Given the description of an element on the screen output the (x, y) to click on. 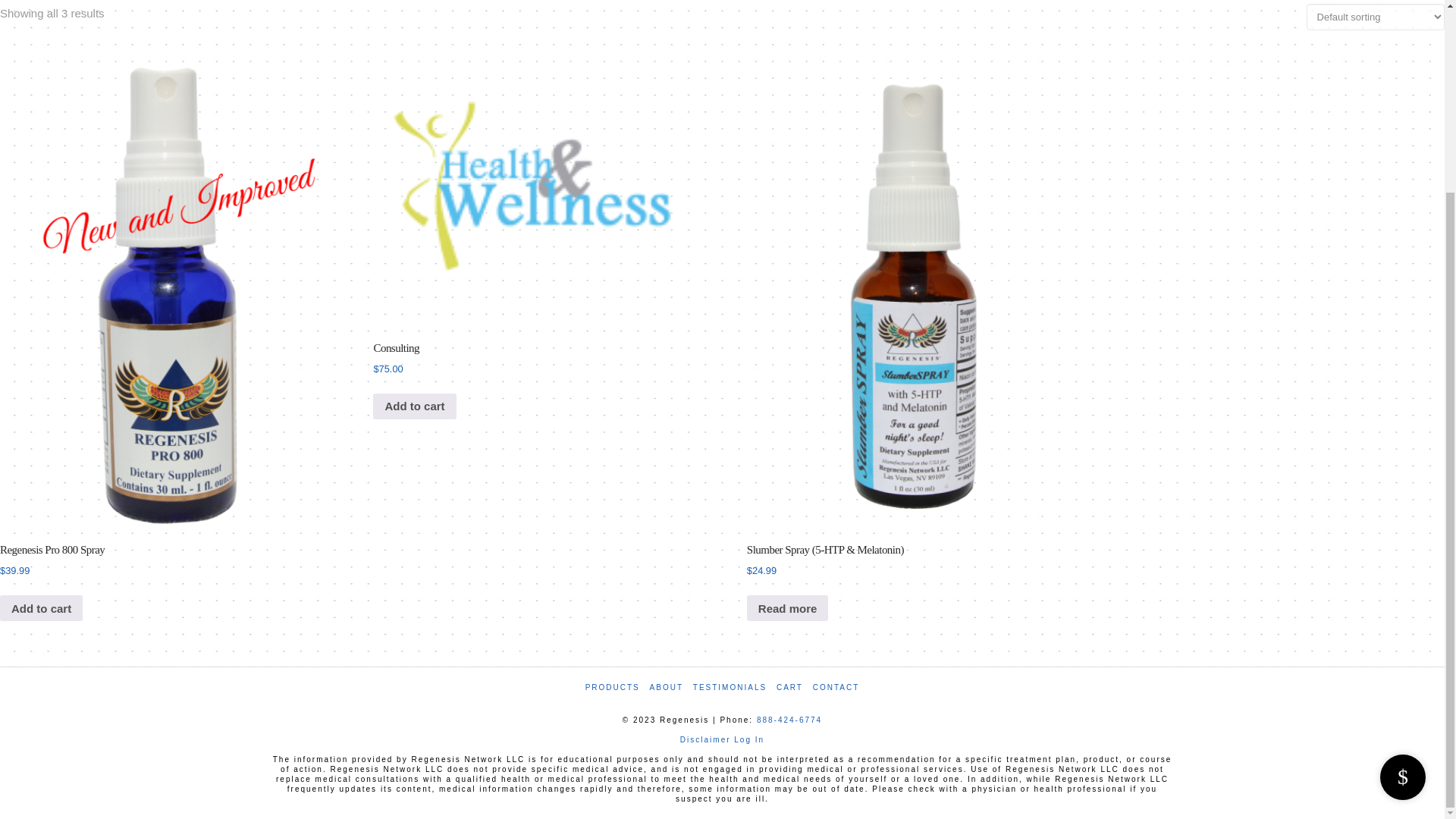
TESTIMONIALS (730, 687)
888-424-6774 (789, 719)
CART (789, 687)
Add to cart (41, 607)
CONTACT (836, 687)
ABOUT (665, 687)
Disclaimer (704, 739)
Log In (748, 739)
PRODUCTS (612, 687)
Add to cart (413, 406)
